Given the description of an element on the screen output the (x, y) to click on. 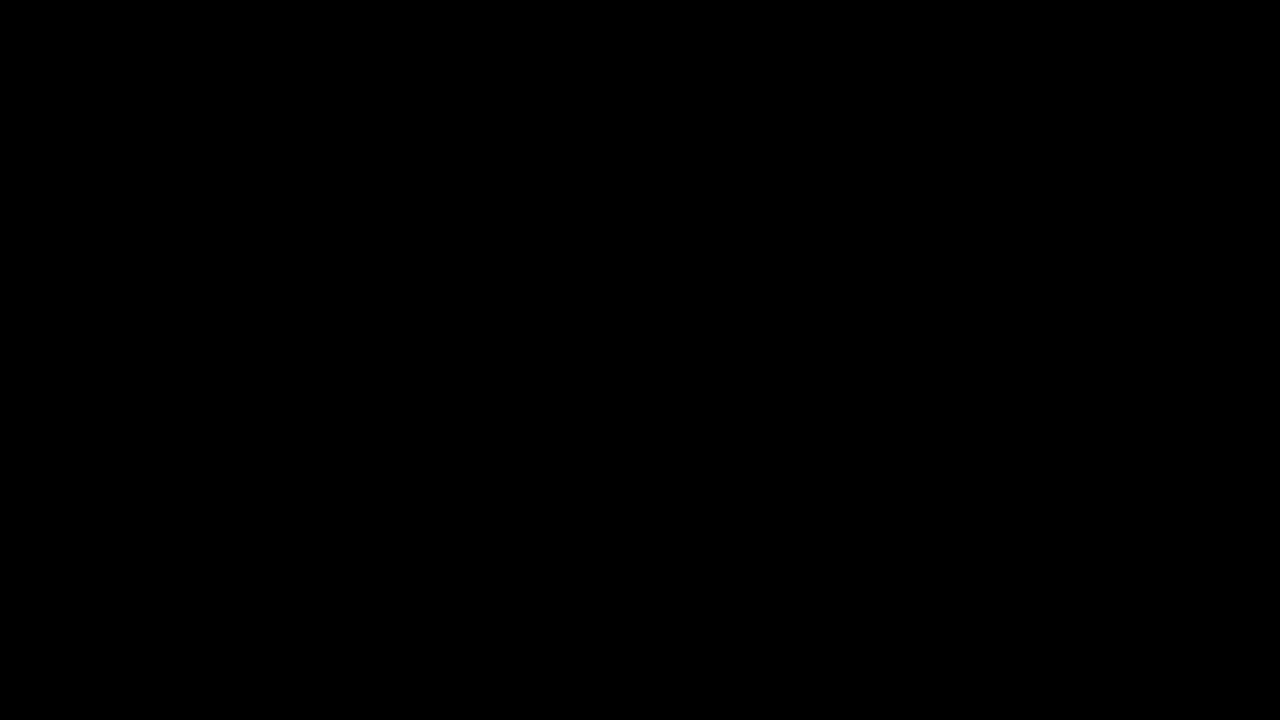
Print Layout (1028, 668)
Zoom In (1189, 668)
Read Mode (988, 668)
Zoom Out (1137, 668)
Web Layout (1069, 668)
Decrease Text Size (1099, 668)
Text Size (1158, 668)
Increase Text Size (1217, 668)
Focus  (934, 668)
